Given the description of an element on the screen output the (x, y) to click on. 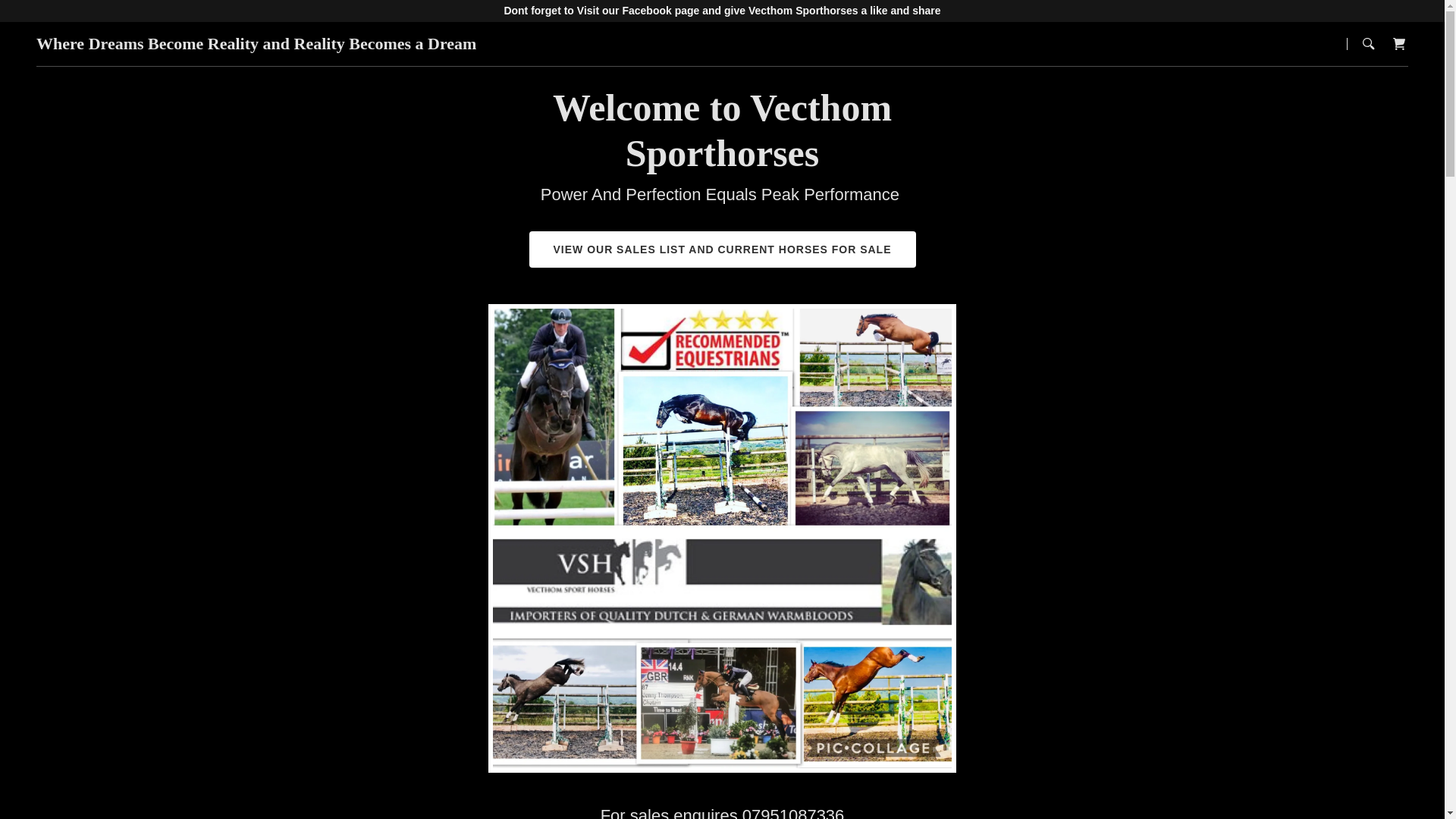
VIEW OUR SALES LIST AND CURRENT HORSES FOR SALE (722, 248)
Where Dreams Become Reality and Reality Becomes a Dream (256, 44)
07951087336 (793, 812)
Where Dreams Become Reality and Reality Becomes a Dream  (256, 44)
